Given the description of an element on the screen output the (x, y) to click on. 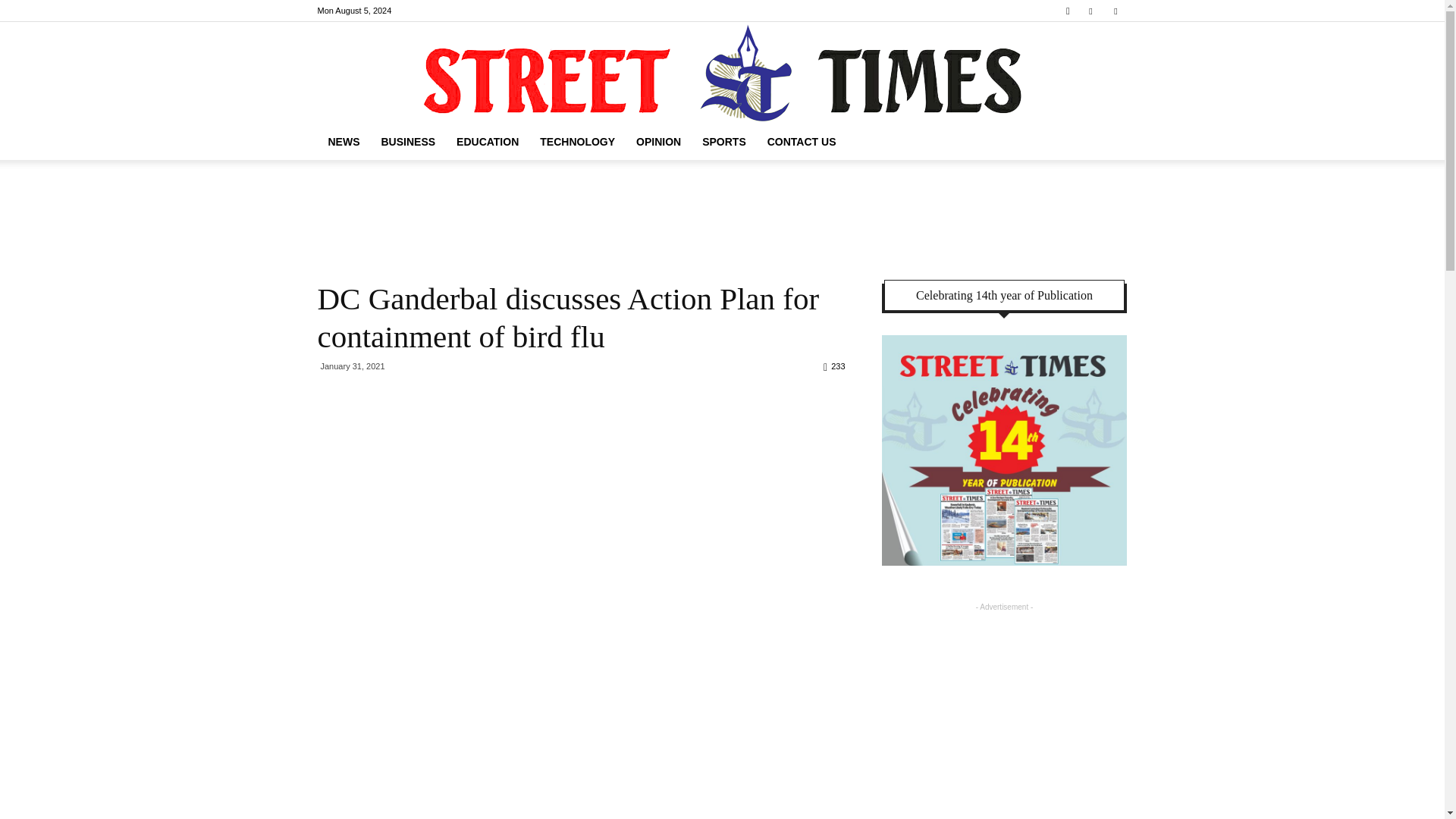
EDUCATION (487, 141)
Advertisement (721, 212)
Anniversary (1003, 449)
OPINION (658, 141)
Street Times (722, 72)
Search (1085, 64)
Advertisement (1003, 708)
Facebook (1090, 10)
BUSINESS (407, 141)
NEWS (343, 141)
TECHNOLOGY (577, 141)
SPORTS (724, 141)
CONTACT US (802, 141)
